Given the description of an element on the screen output the (x, y) to click on. 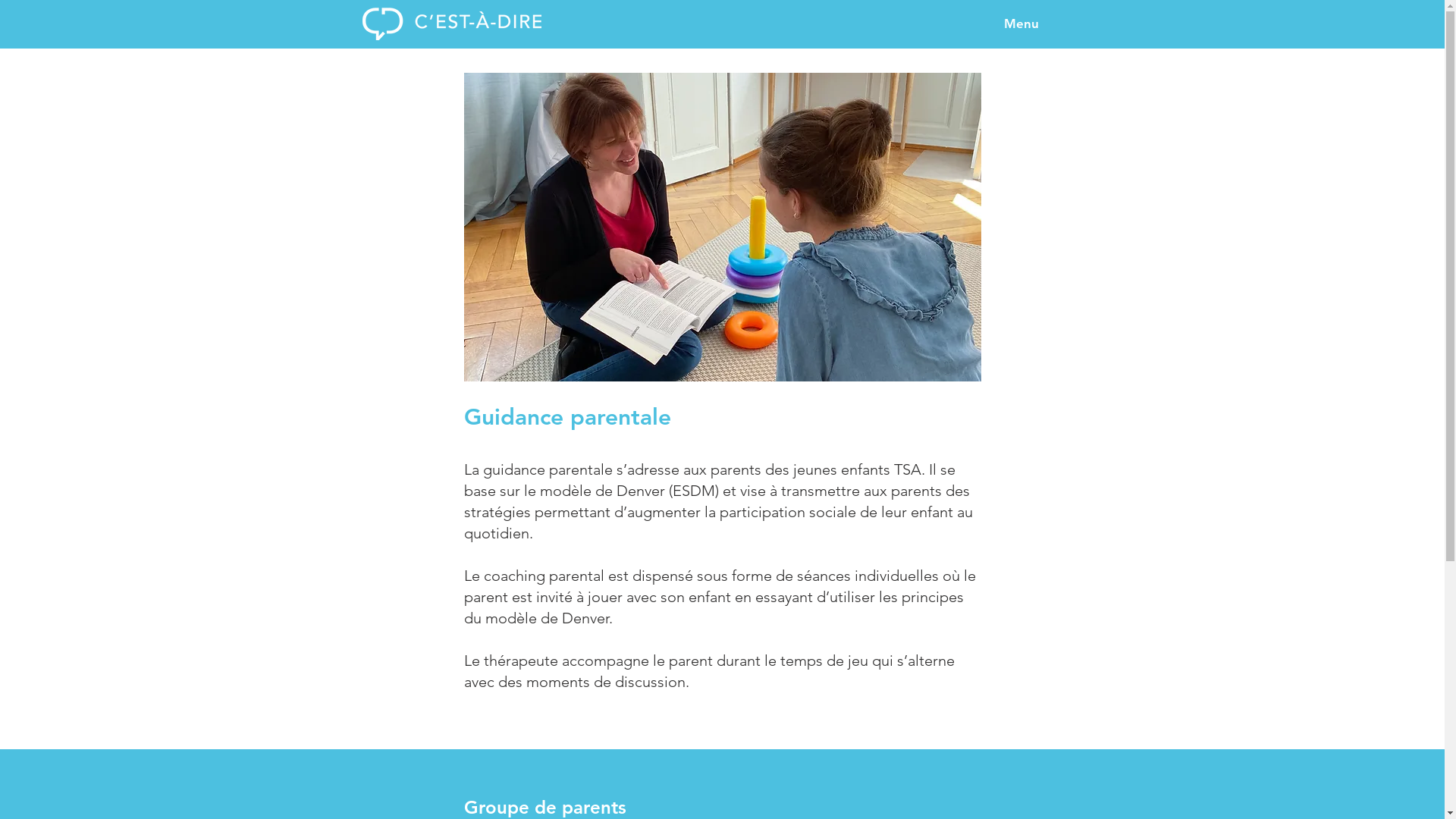
Menu Element type: text (1020, 23)
